Given the description of an element on the screen output the (x, y) to click on. 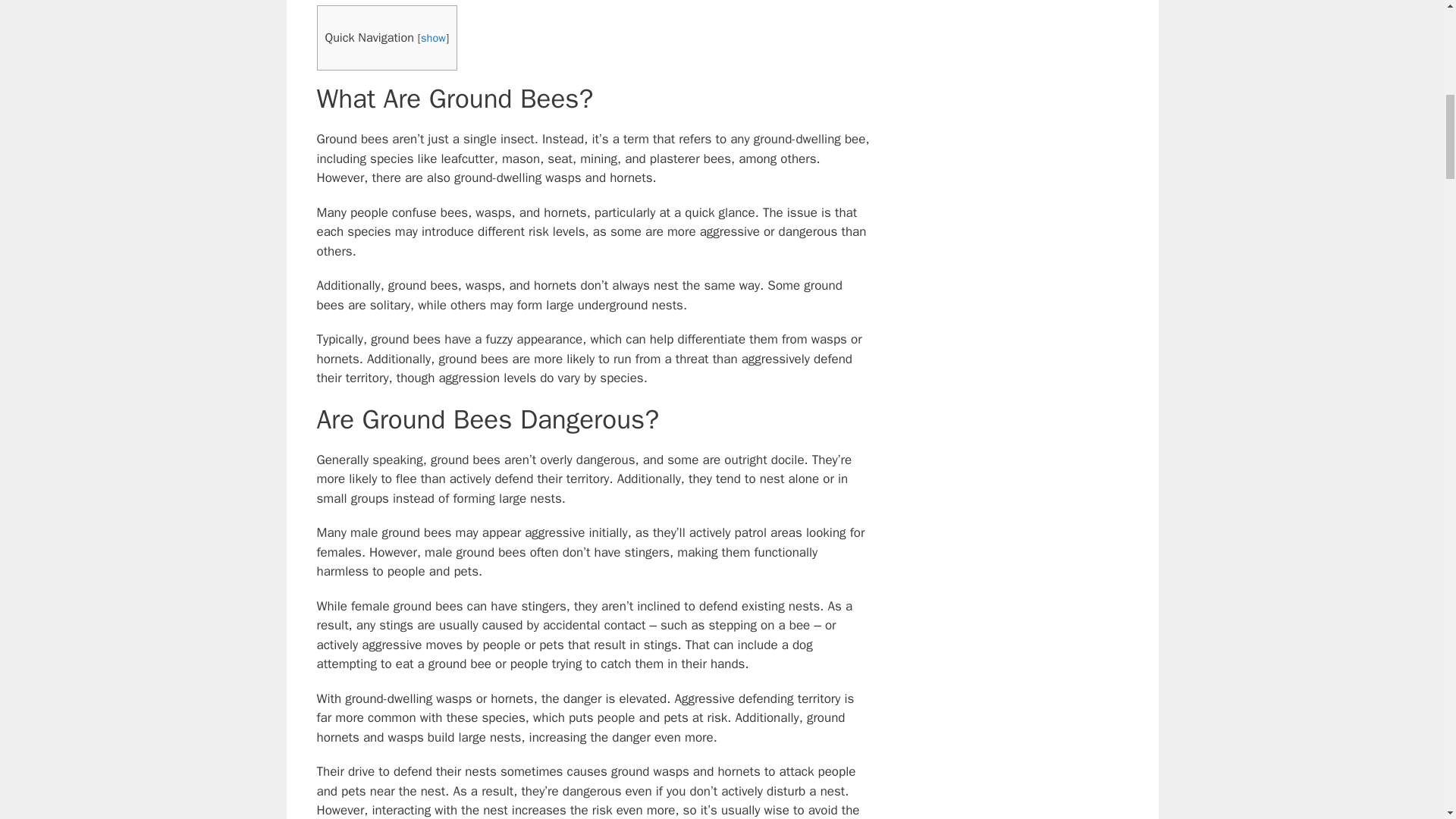
show (432, 38)
